Given the description of an element on the screen output the (x, y) to click on. 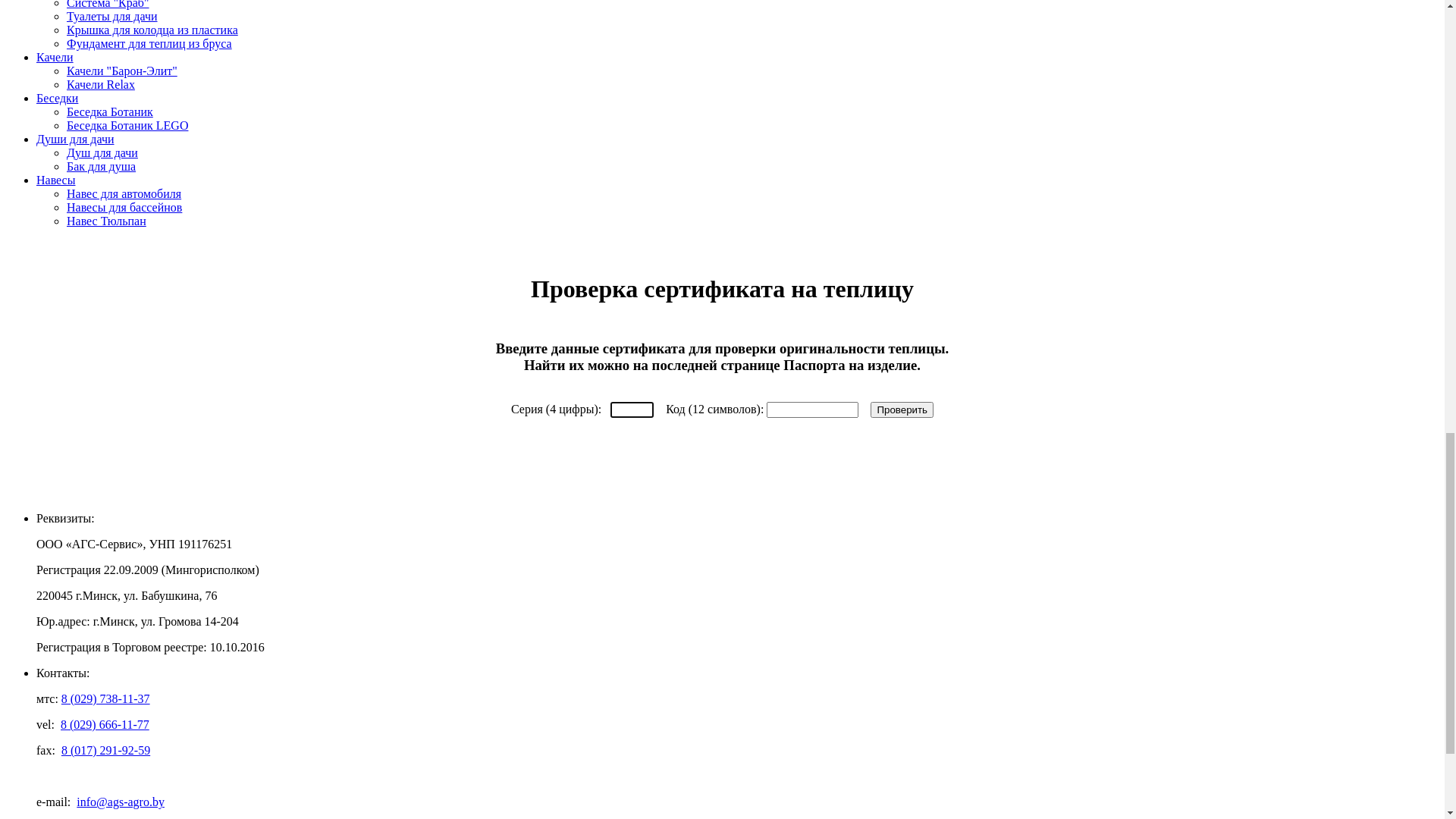
8 (029) 621-17-70 Element type: text (101, 585)
8 (029) 666-11-77 Element type: text (100, 557)
8 (017) 291-92-59 Element type: text (101, 641)
8 (029) 738-11-37 Element type: text (100, 613)
